Given the description of an element on the screen output the (x, y) to click on. 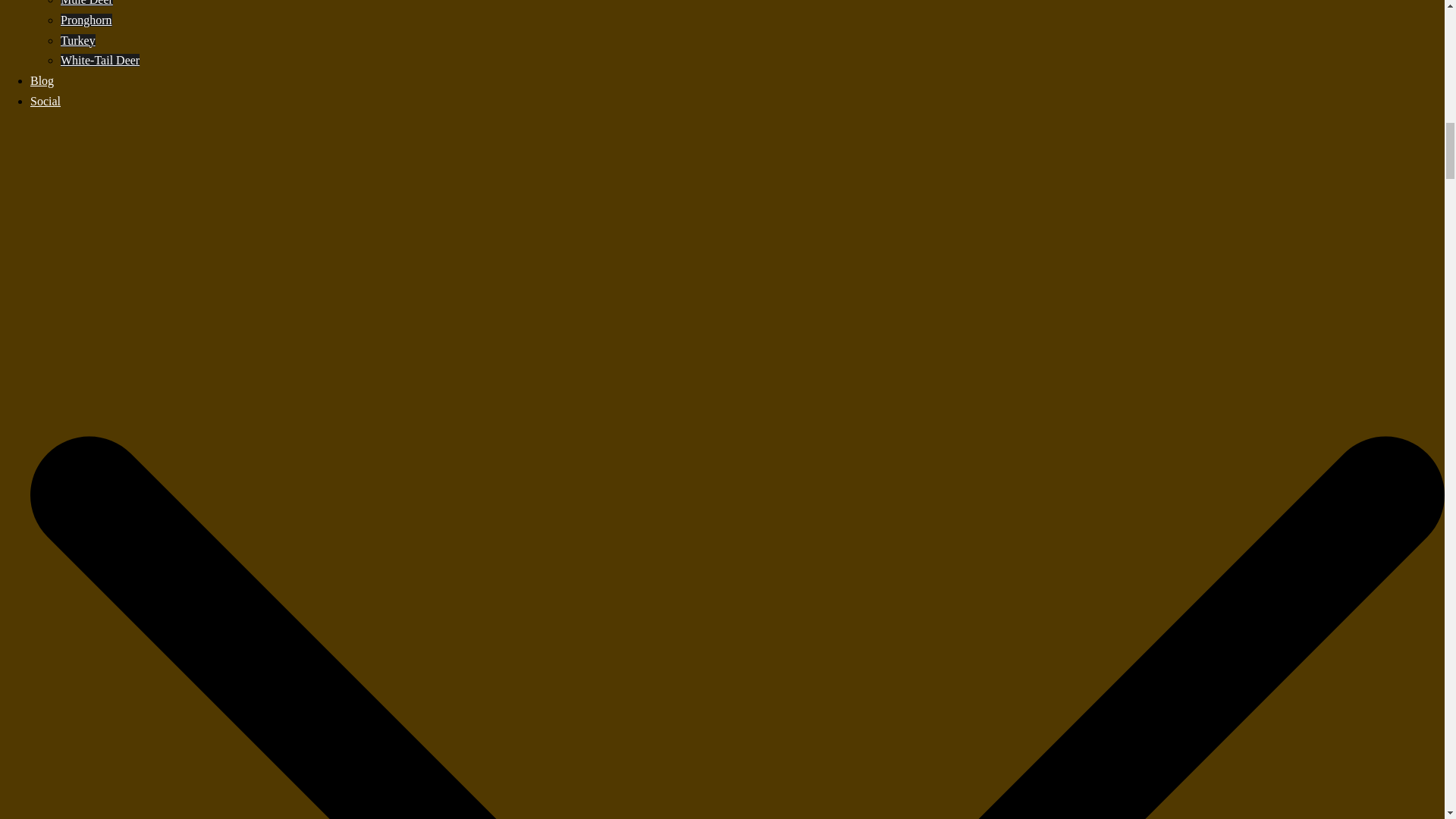
Social (45, 101)
Mule Deer (87, 2)
Blog (41, 80)
Turkey (78, 39)
White-Tail Deer (100, 60)
Pronghorn (86, 19)
